Given the description of an element on the screen output the (x, y) to click on. 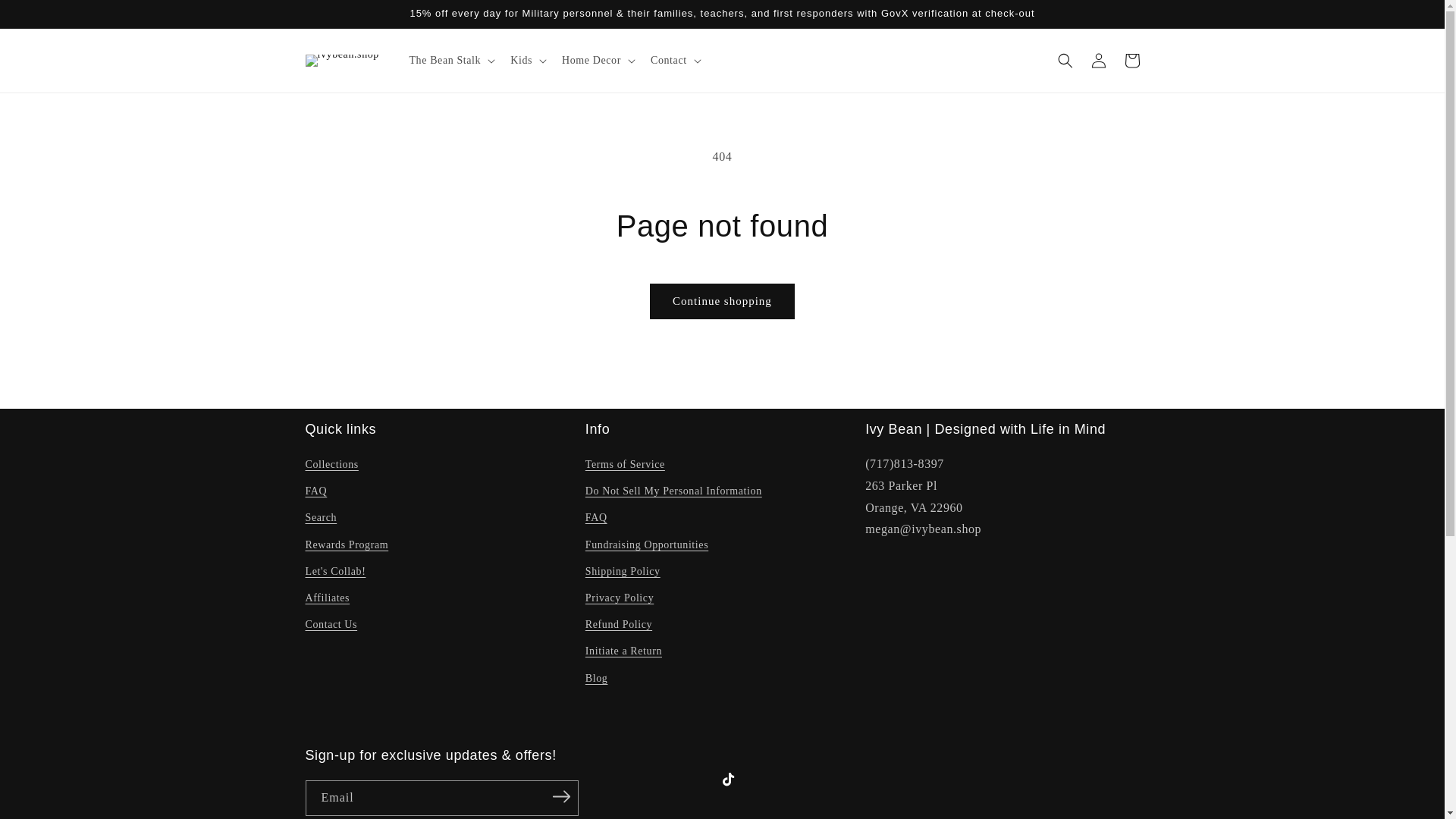
Skip to content (45, 17)
